Given the description of an element on the screen output the (x, y) to click on. 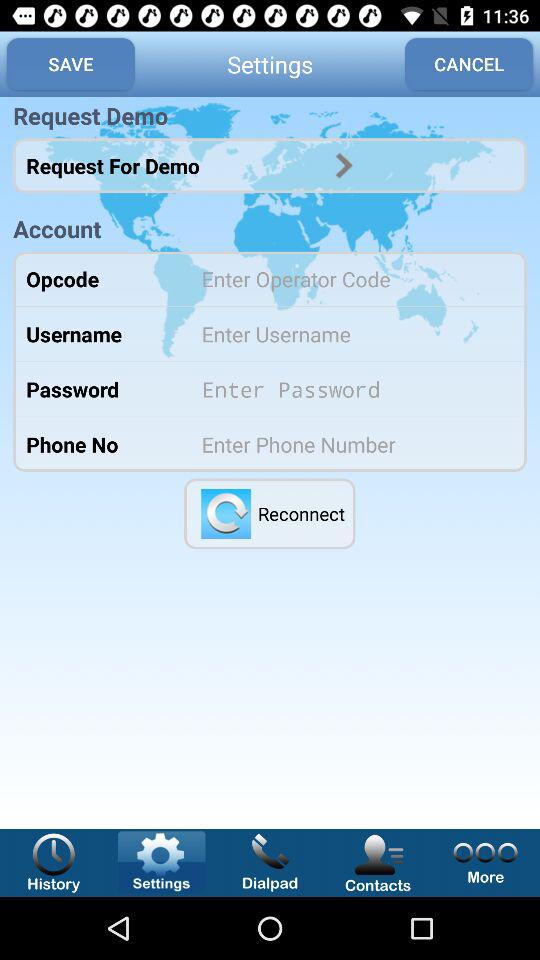
type operator code (350, 278)
